Given the description of an element on the screen output the (x, y) to click on. 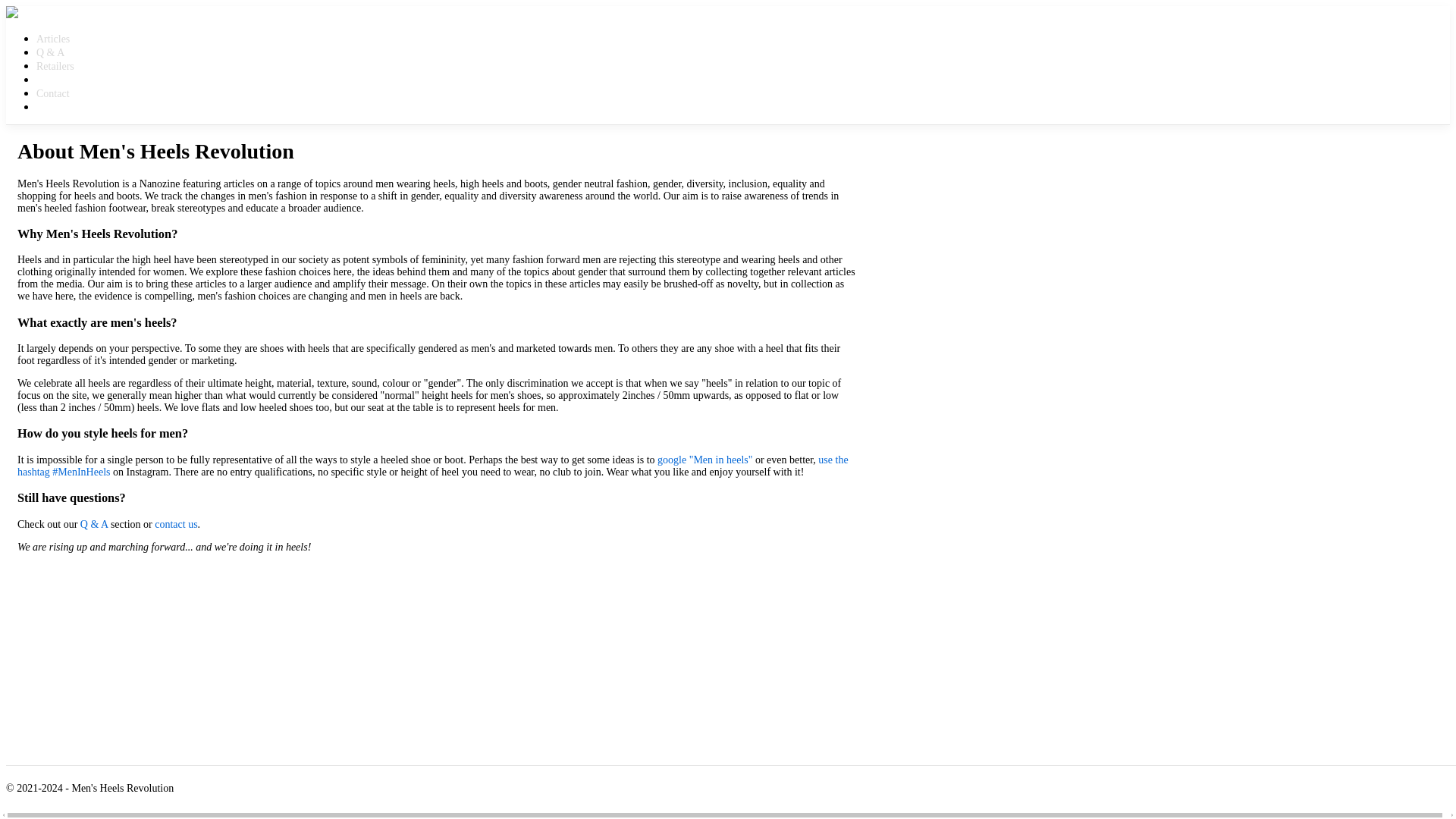
Articles (453, 39)
contact us (175, 523)
google "Men in heels" (705, 460)
Retailers (453, 66)
Contact (453, 93)
About (453, 80)
